Given the description of an element on the screen output the (x, y) to click on. 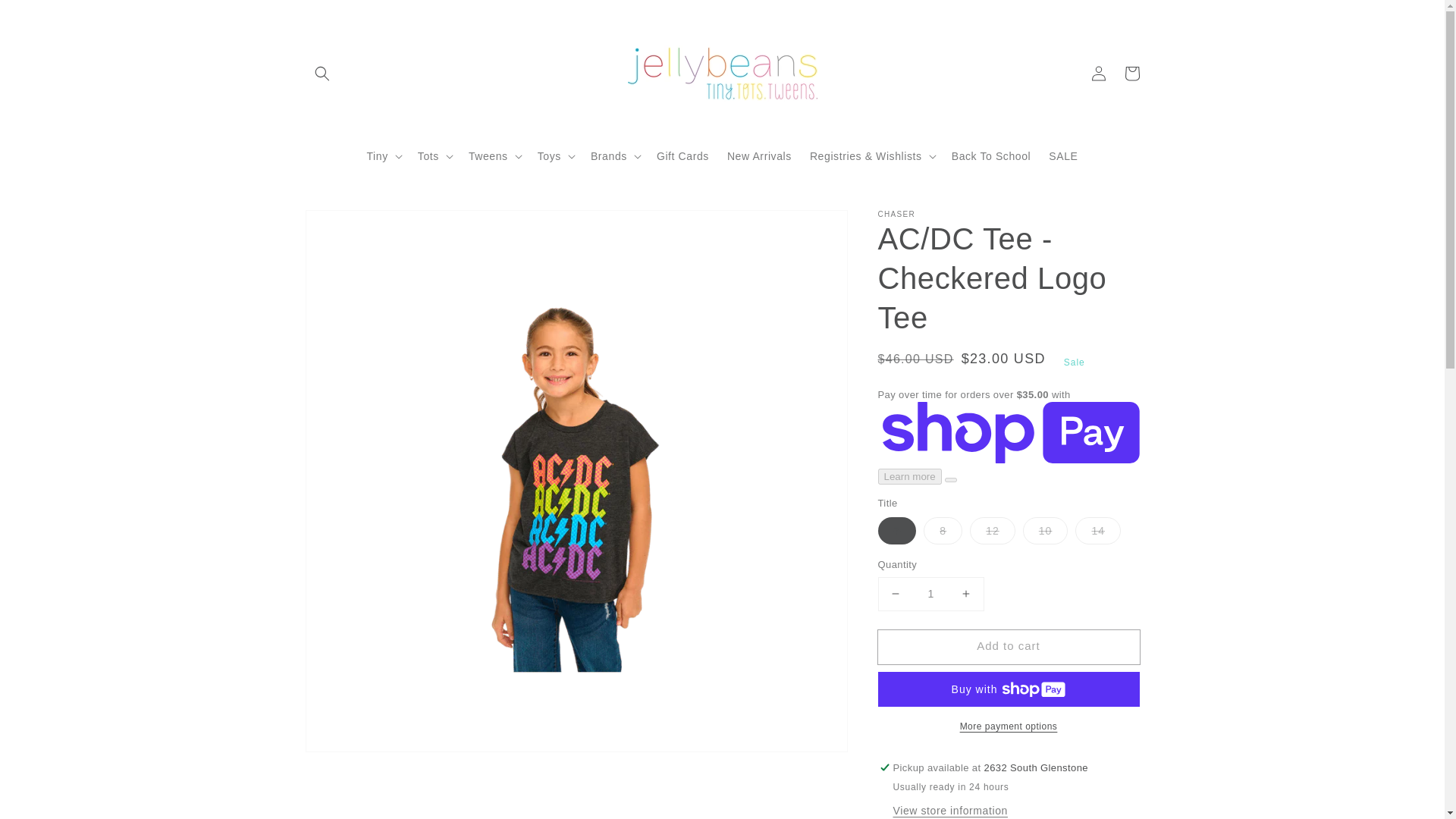
Skip to content (45, 16)
1 (930, 594)
